Given the description of an element on the screen output the (x, y) to click on. 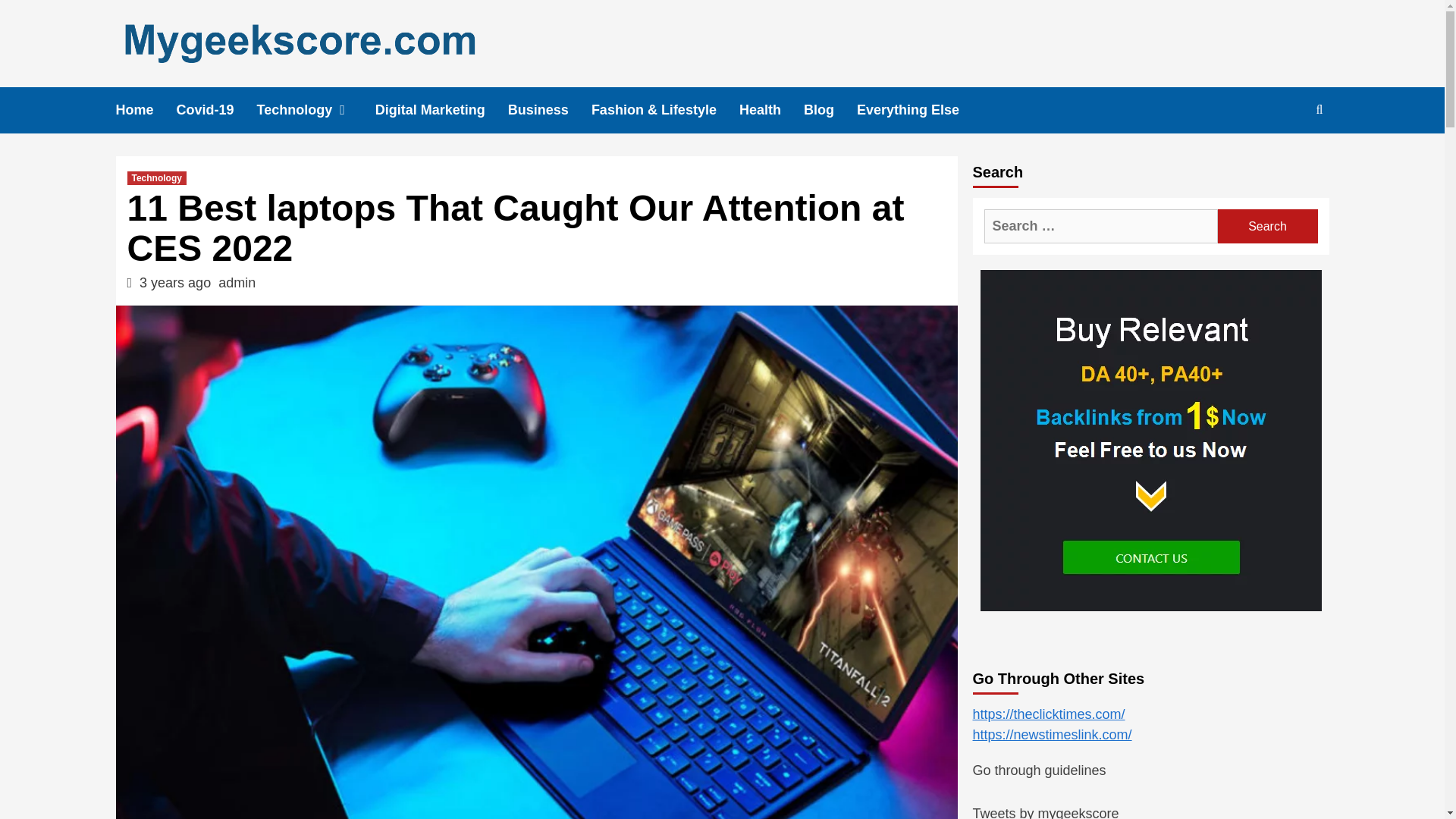
Everything Else (919, 109)
Business (549, 109)
Search (1267, 226)
Search (1283, 158)
Health (771, 109)
Blog (830, 109)
Home (145, 109)
Technology (316, 109)
Covid-19 (216, 109)
Technology (157, 178)
Search (1267, 226)
Digital Marketing (441, 109)
admin (237, 282)
